Given the description of an element on the screen output the (x, y) to click on. 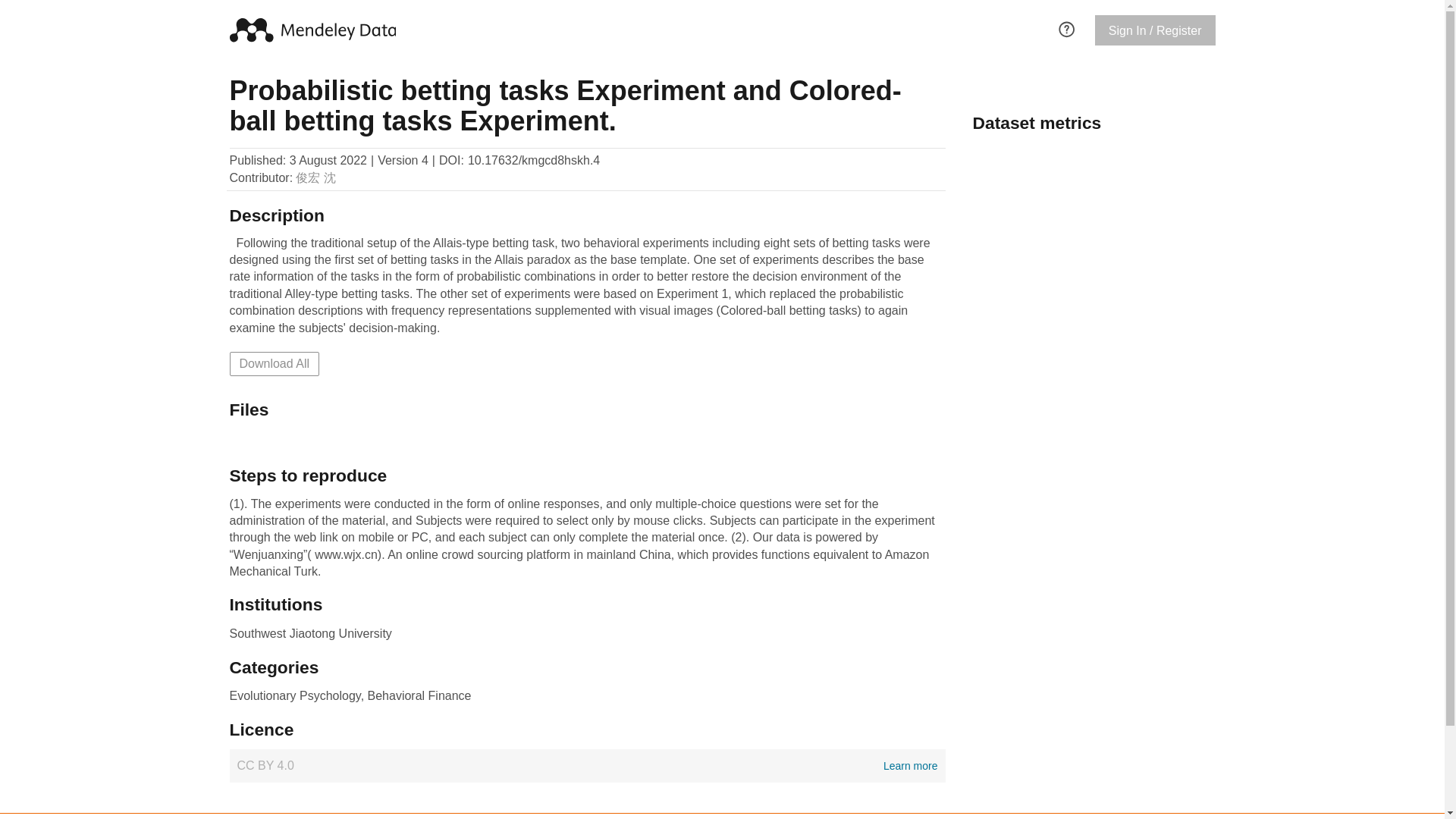
Download All (273, 363)
FAQ (586, 765)
